Given the description of an element on the screen output the (x, y) to click on. 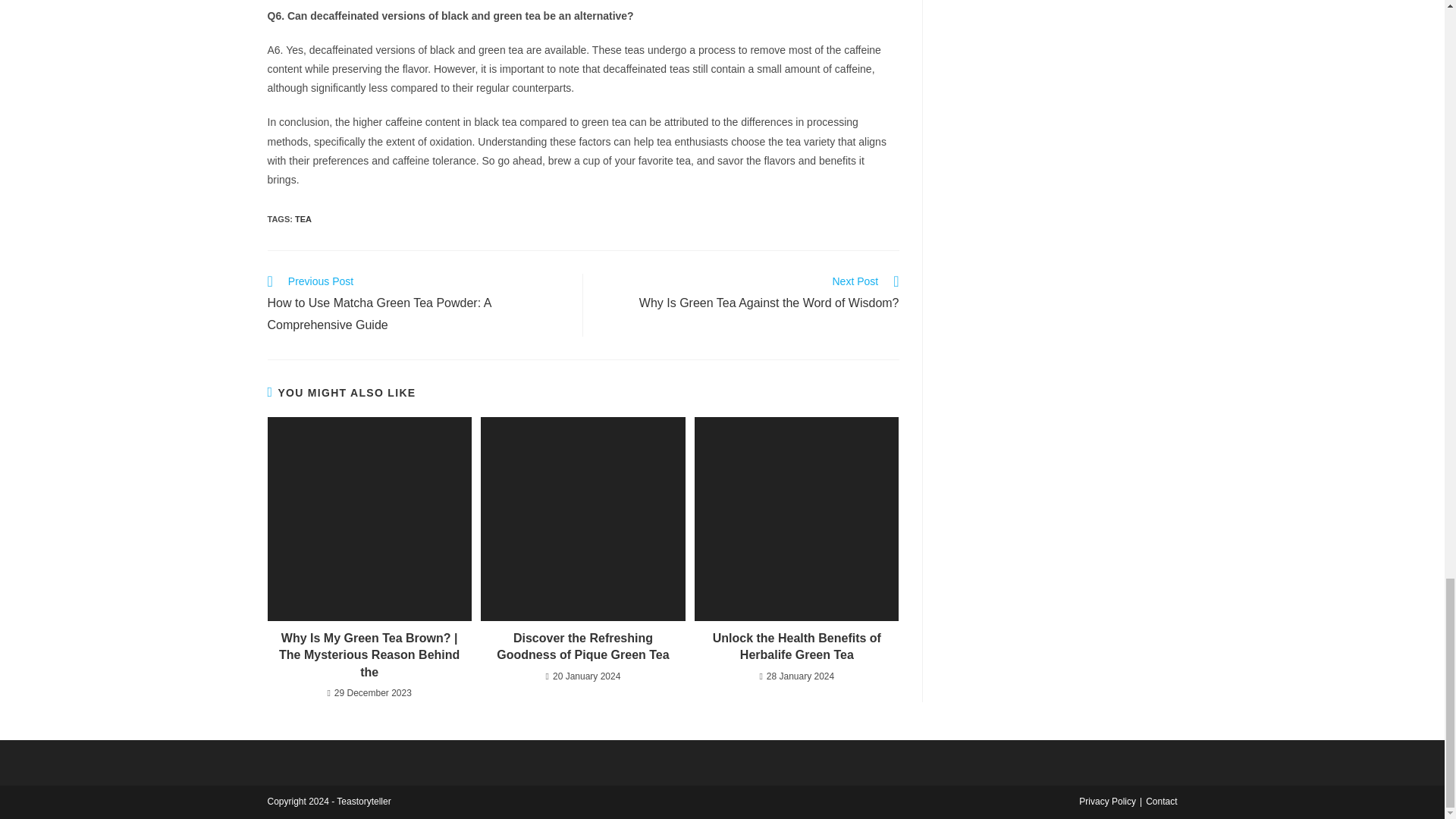
Discover the Refreshing Goodness of Pique Green Tea (748, 293)
Unlock the Health Benefits of Herbalife Green Tea (582, 646)
TEA (796, 646)
